Given the description of an element on the screen output the (x, y) to click on. 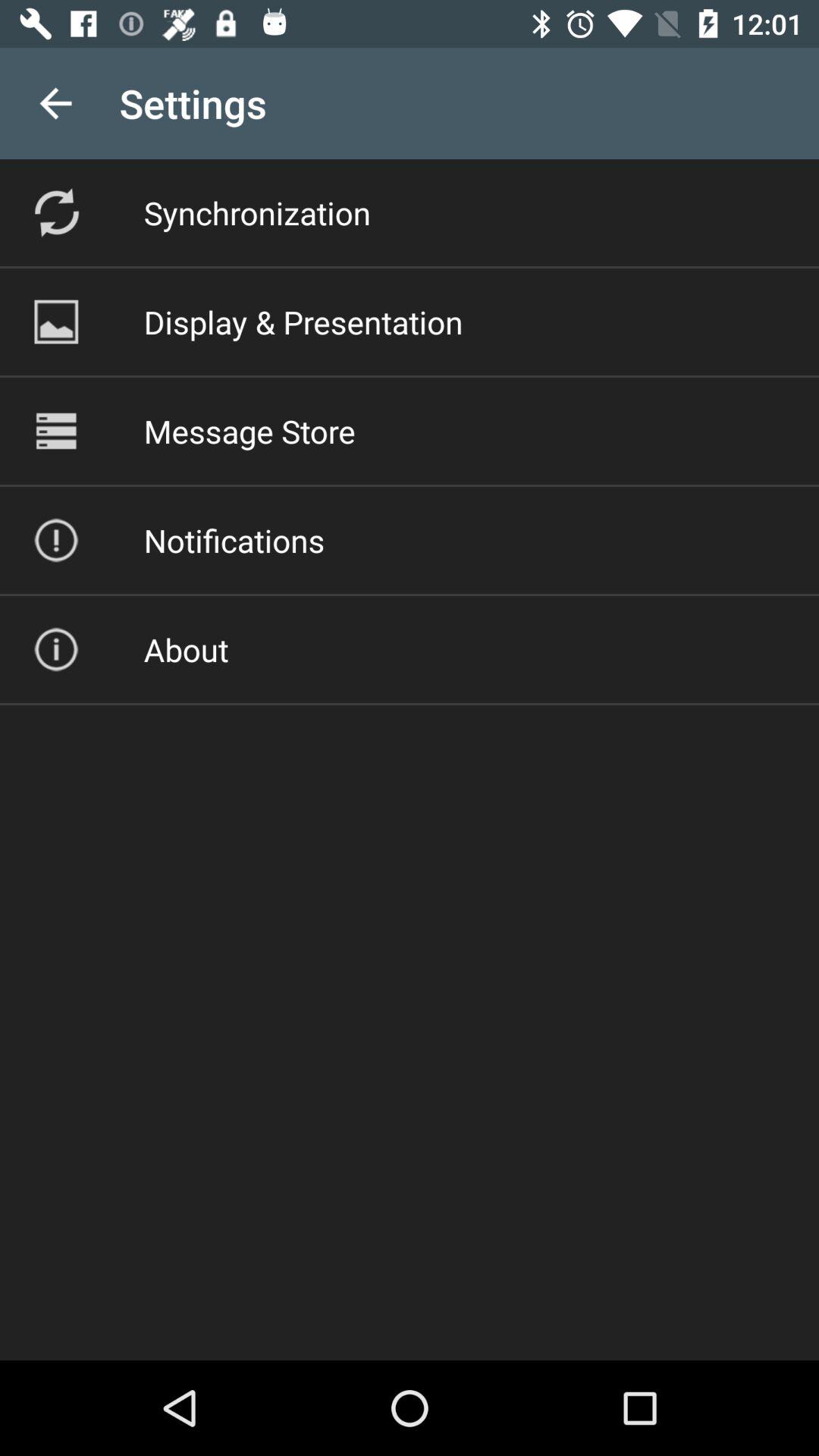
turn on item below message store icon (233, 539)
